Given the description of an element on the screen output the (x, y) to click on. 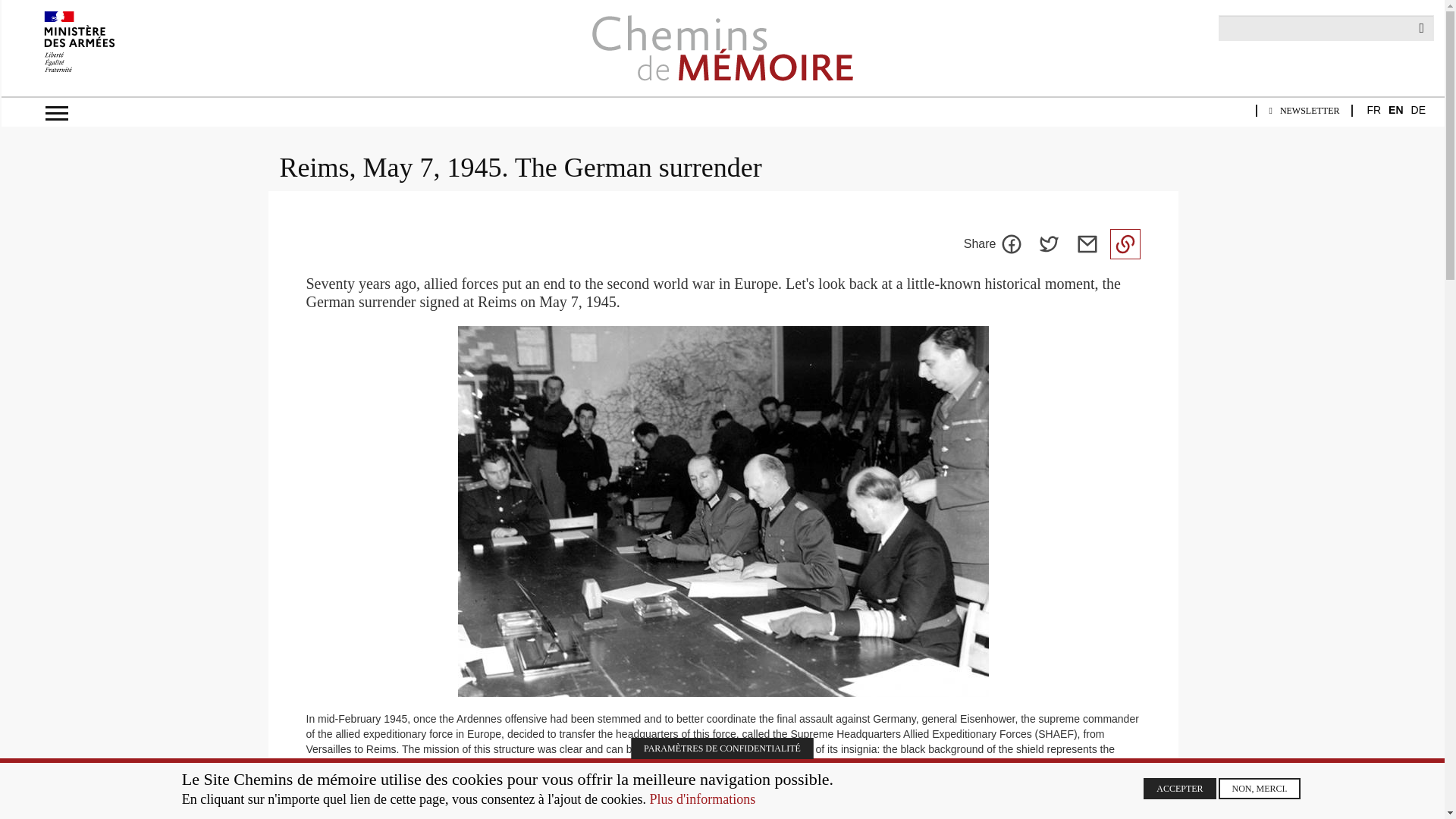
DE (1417, 110)
EN (1396, 110)
Copier dans le presse-papier (1124, 244)
Partager par email (1086, 244)
Partager sur Facebook (1010, 244)
Partager par email (1086, 244)
Remembrance Tourism (284, 291)
Accepter tous les cookies (1178, 788)
Apply (1420, 27)
Home (722, 48)
Partager sur Twitter (1048, 244)
Copier dans le presse-papier (1124, 244)
FR (1373, 110)
